Given the description of an element on the screen output the (x, y) to click on. 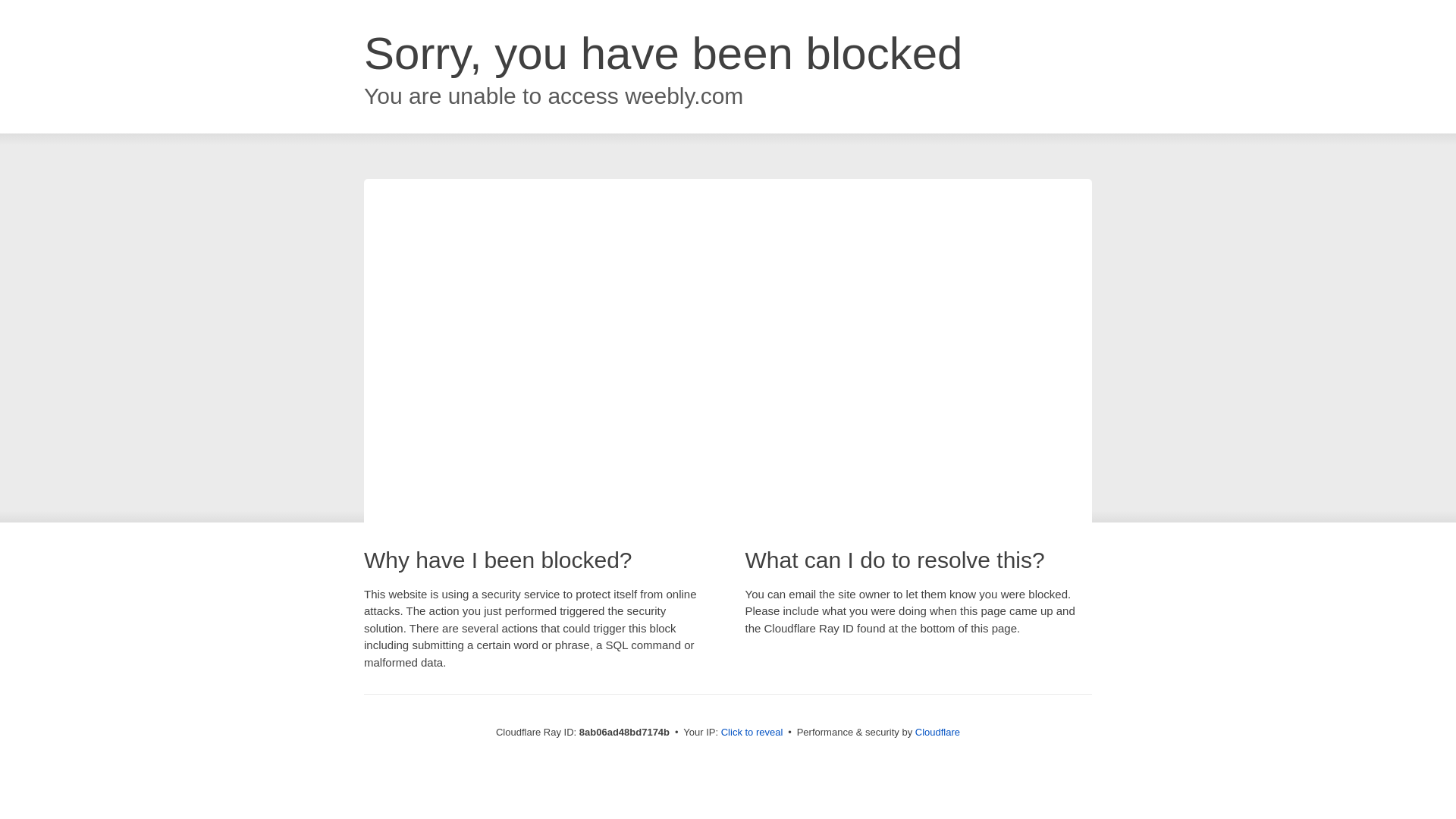
Click to reveal (751, 732)
Cloudflare (937, 731)
